Given the description of an element on the screen output the (x, y) to click on. 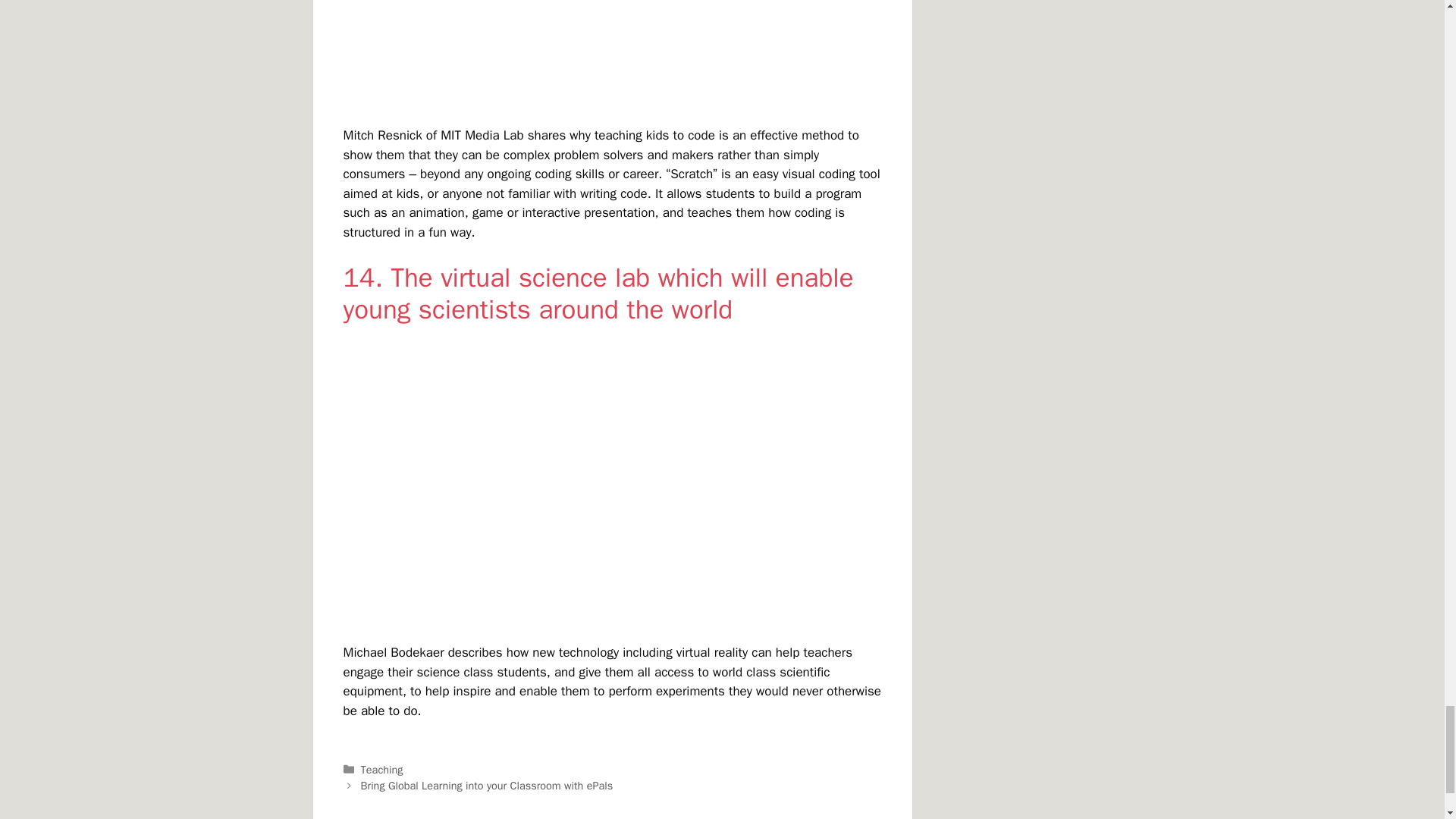
Bring Global Learning into your Classroom with ePals (486, 785)
Teaching (382, 769)
